Given the description of an element on the screen output the (x, y) to click on. 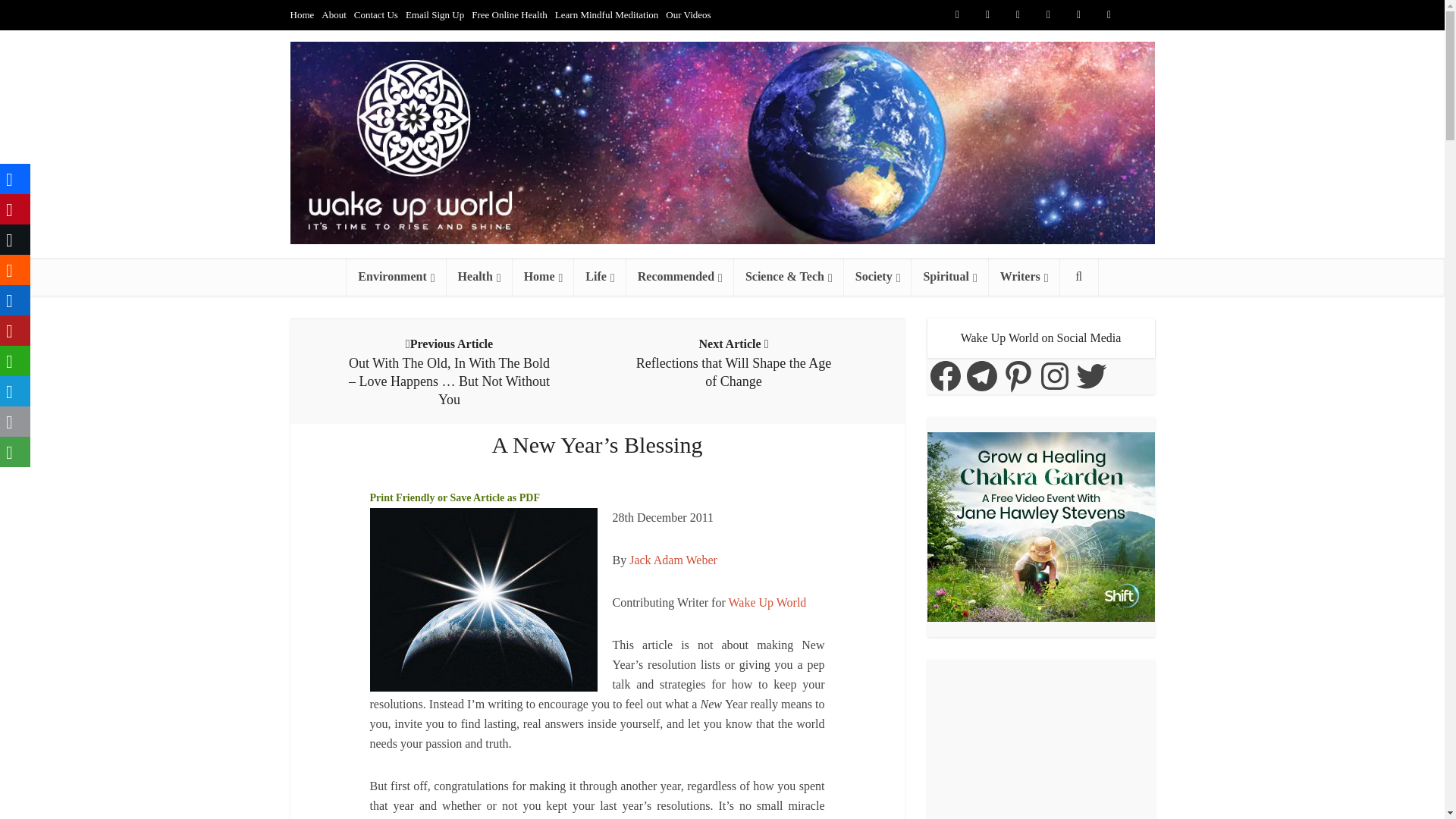
Contact Us (375, 14)
PoeticHealing.com (672, 559)
Learn Mindful Meditation (606, 14)
Environment (395, 276)
Home (301, 14)
EarthSunRise (482, 599)
Free Online Health (509, 14)
Email Sign Up (435, 14)
Our Videos (687, 14)
Articles recommended by WuW (679, 276)
About (333, 14)
Health (479, 276)
Telegram (1139, 15)
